Given the description of an element on the screen output the (x, y) to click on. 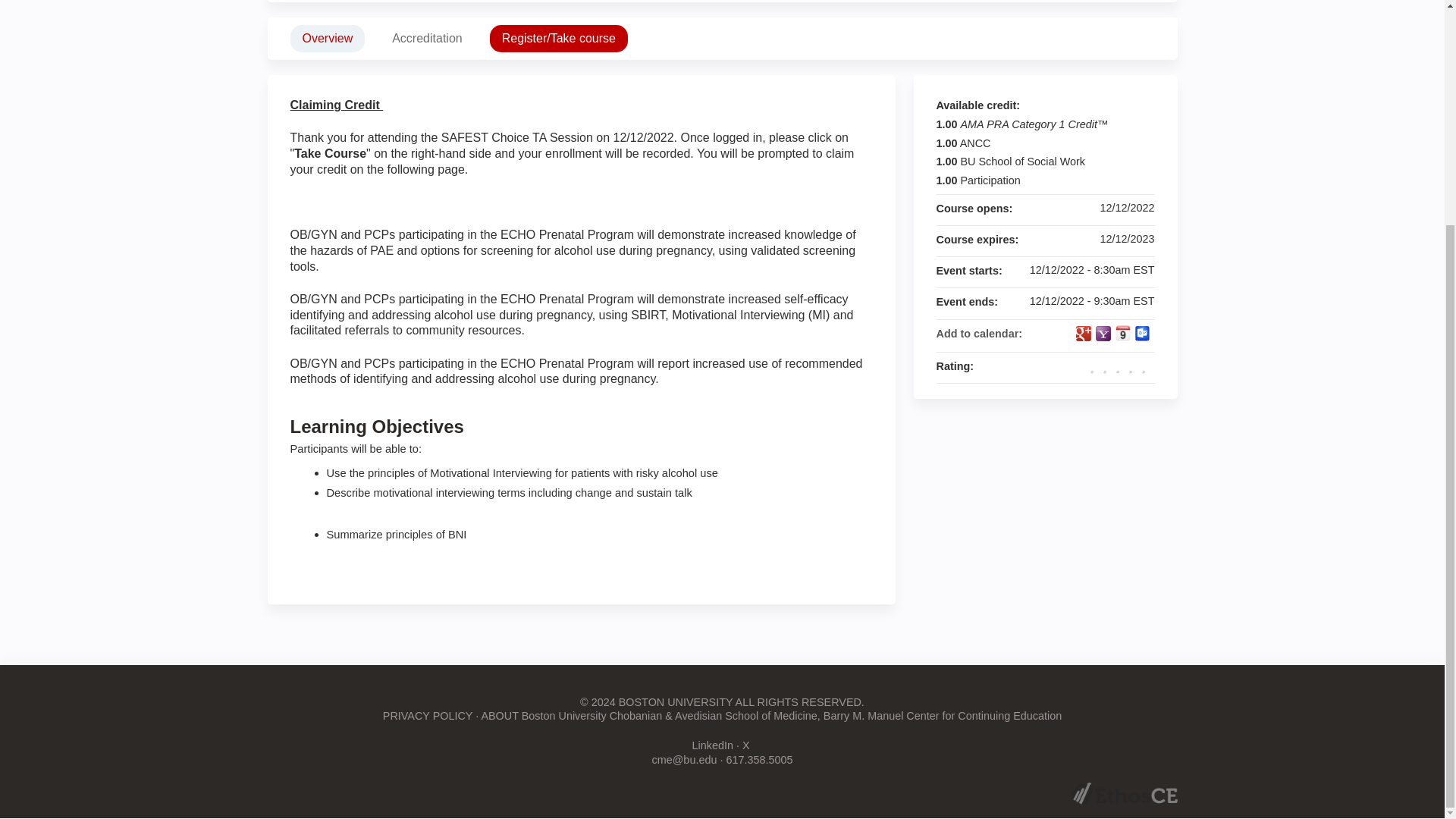
iCal (1122, 332)
Yahoo calendar (1101, 333)
Google calendar (1082, 333)
Outlook (1142, 333)
